Given the description of an element on the screen output the (x, y) to click on. 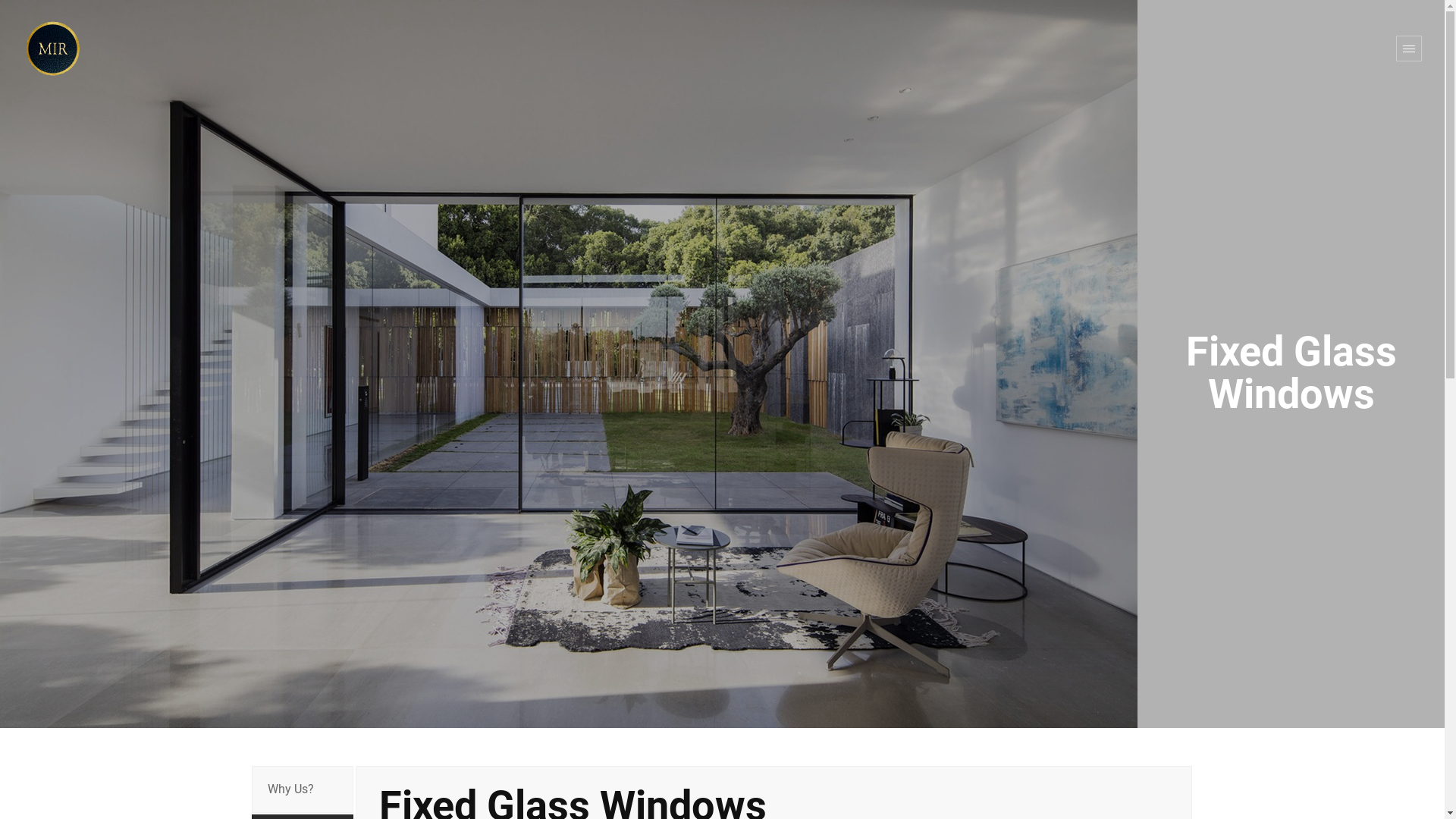
Why Us? Element type: text (302, 788)
